Given the description of an element on the screen output the (x, y) to click on. 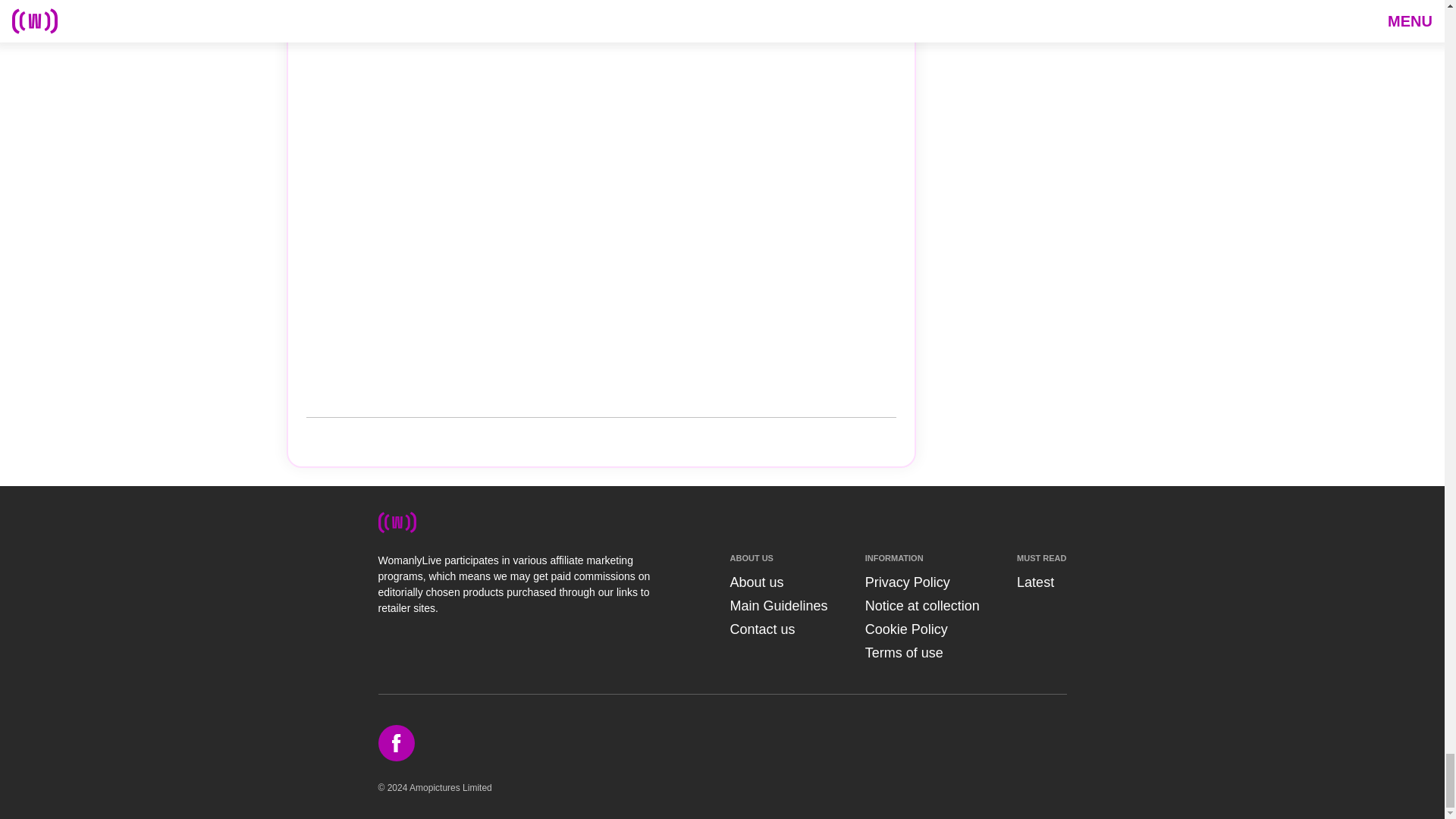
Latest (1035, 581)
Cookie Policy (905, 629)
Contact us (761, 629)
About us (756, 581)
Privacy Policy (907, 581)
Terms of use (903, 652)
Notice at collection (921, 605)
Main Guidelines (778, 605)
